Given the description of an element on the screen output the (x, y) to click on. 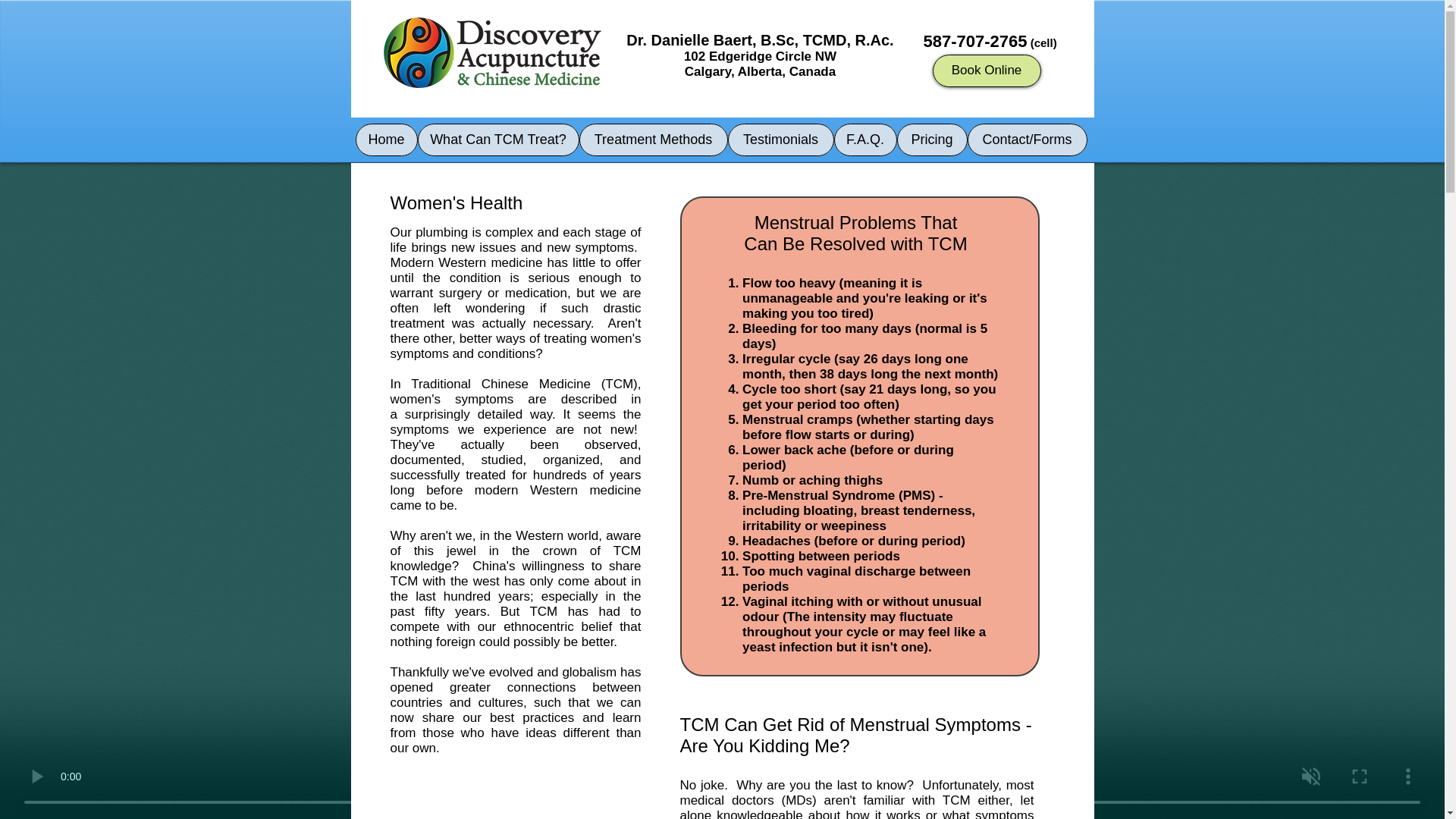
587-707-2765 (975, 40)
Calgary, Alberta, Canada (759, 71)
Book Online (987, 70)
Pricing (931, 139)
F.A.Q. (865, 139)
Dr. Danielle Baert, B.Sc, TCMD, R.Ac. (759, 39)
Home (385, 139)
102 Edgeridge Circle NW (759, 56)
Testimonials (781, 139)
